Given the description of an element on the screen output the (x, y) to click on. 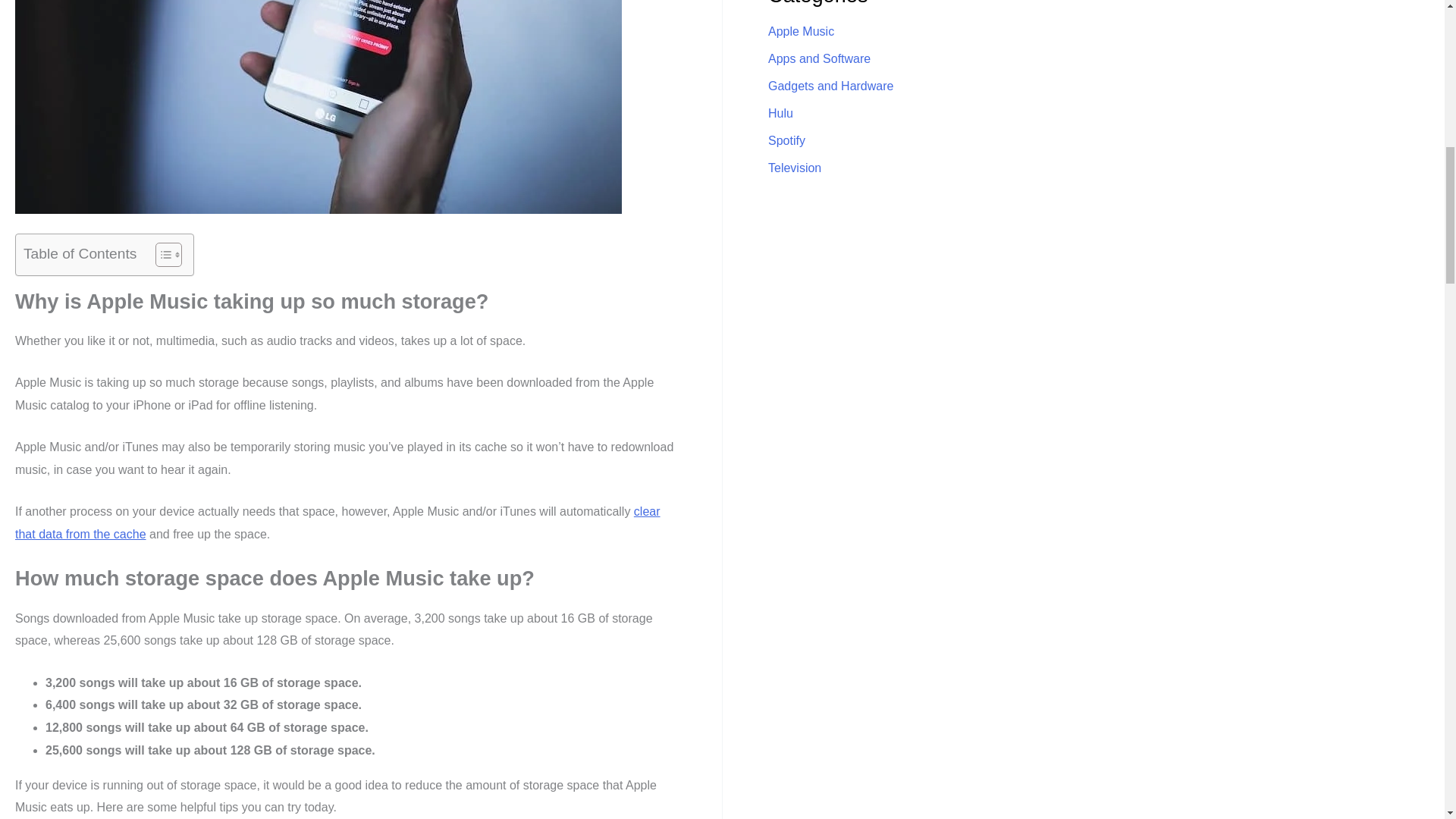
Gadgets and Hardware (830, 85)
Apps and Software (819, 58)
clear that data from the cache (337, 522)
Apple Music (801, 31)
